Given the description of an element on the screen output the (x, y) to click on. 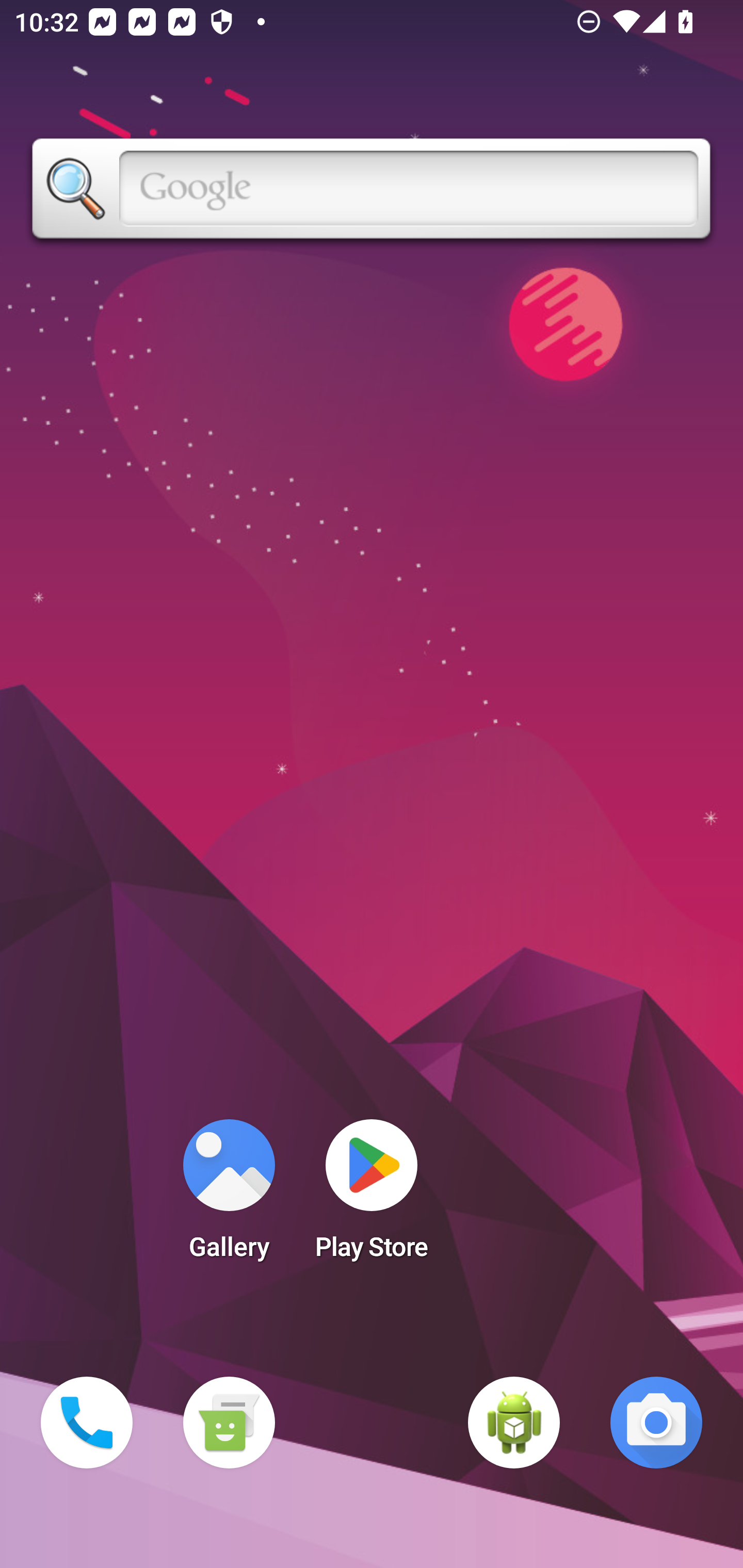
Gallery (228, 1195)
Play Store (371, 1195)
Phone (86, 1422)
Messaging (228, 1422)
WebView Browser Tester (513, 1422)
Camera (656, 1422)
